Given the description of an element on the screen output the (x, y) to click on. 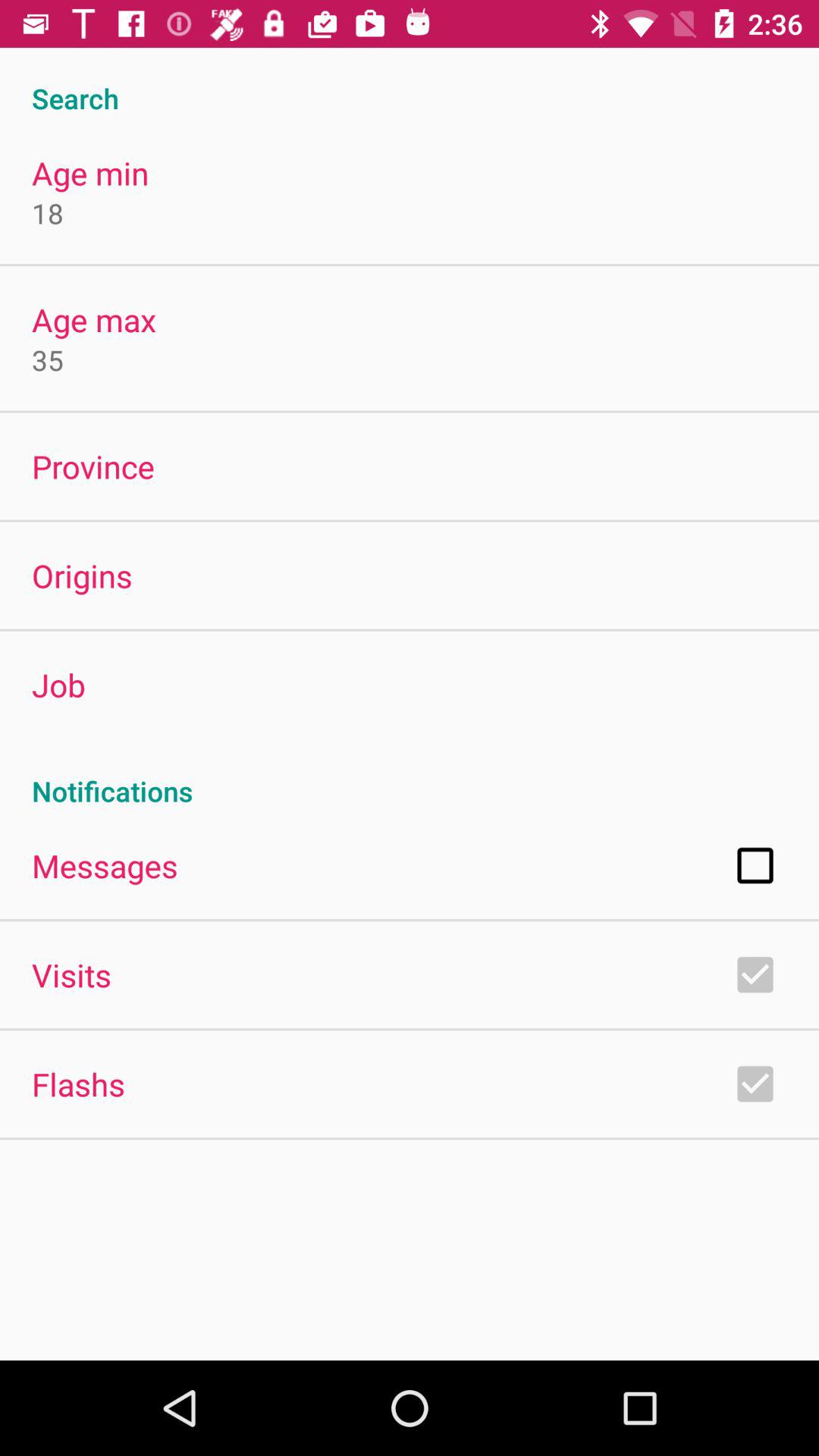
swipe until the age min (90, 172)
